Given the description of an element on the screen output the (x, y) to click on. 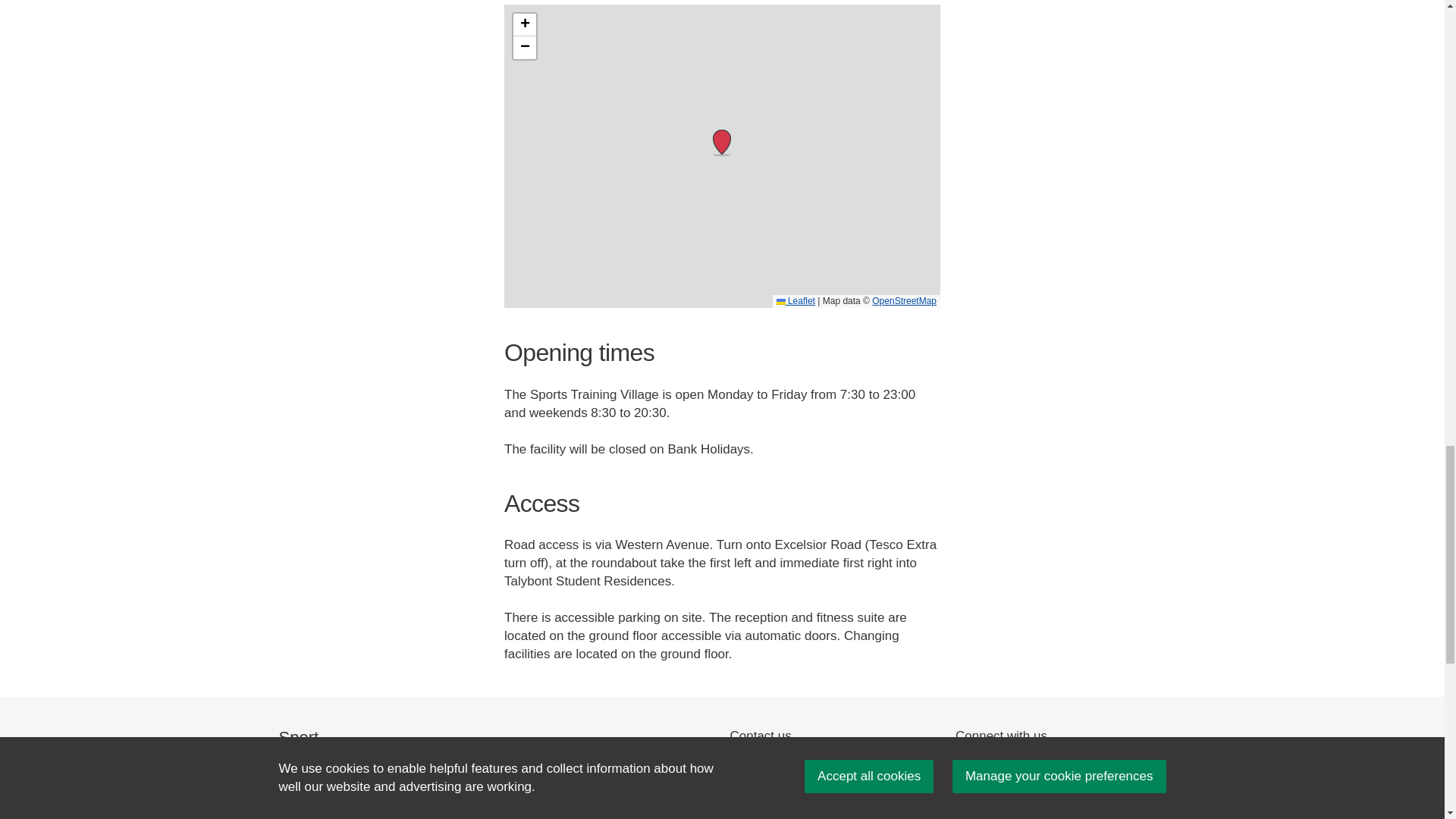
A JavaScript library for interactive maps (795, 300)
facebook (981, 762)
Twitter (961, 762)
Zoom out (524, 47)
Zoom in (524, 24)
instagram (1000, 762)
